Given the description of an element on the screen output the (x, y) to click on. 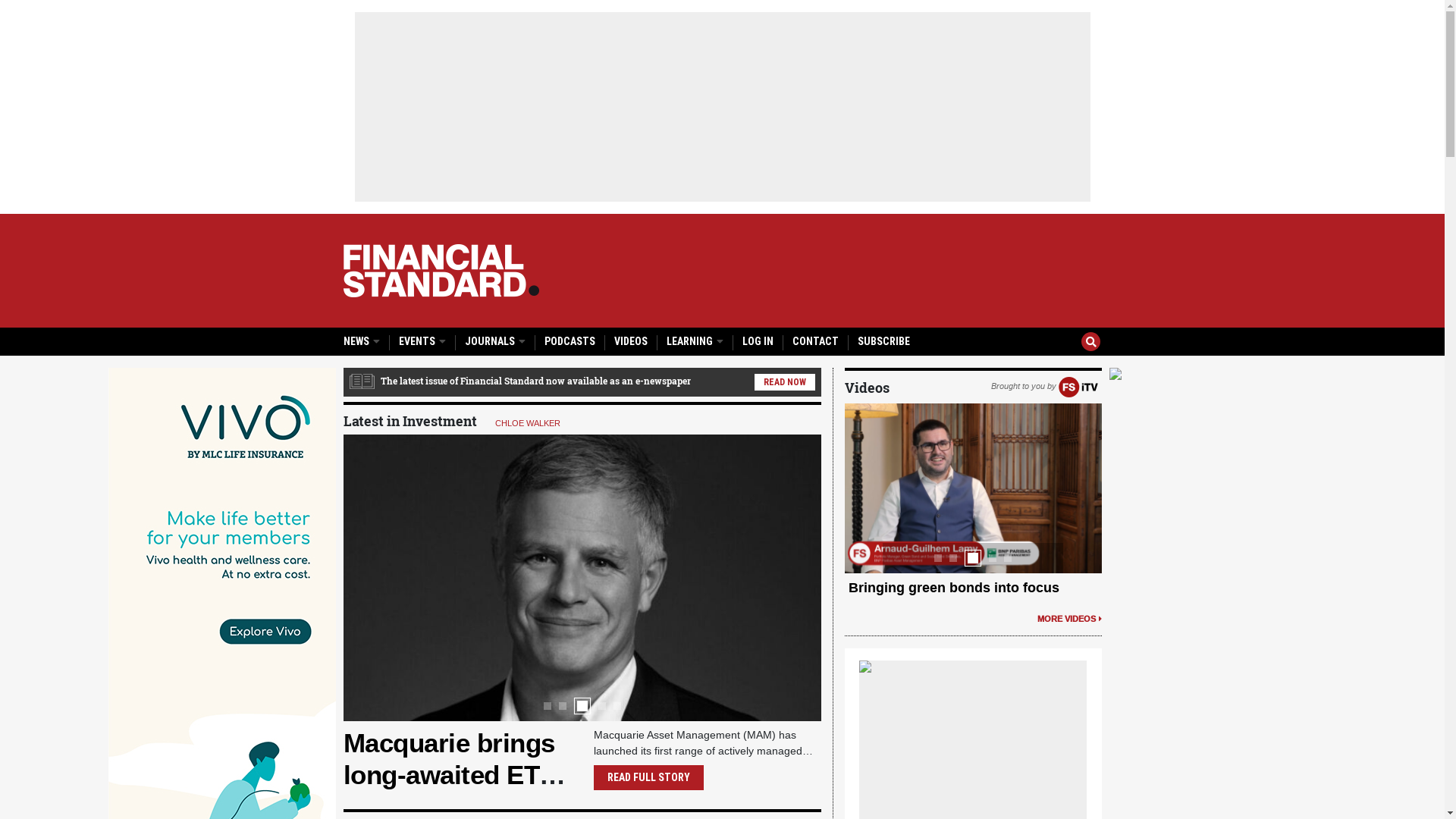
LOG IN Element type: text (756, 341)
JAMIE WILLIAMSON Element type: text (581, 422)
LEARNING Element type: text (693, 341)
Advertisement Element type: hover (722, 106)
JOURNALS Element type: text (494, 341)
Financial Standard Element type: hover (440, 270)
PODCASTS Element type: text (569, 341)
CONTACT Element type: text (814, 341)
VIDEOS Element type: text (630, 341)
SUBSCRIBE Element type: text (882, 341)
NEWS Element type: text (360, 341)
The value of trauma insurance Element type: text (945, 587)
EVENTS Element type: text (421, 341)
MORE VIDEOS Element type: text (1069, 618)
FSiTV Element type: hover (1078, 385)
